Given the description of an element on the screen output the (x, y) to click on. 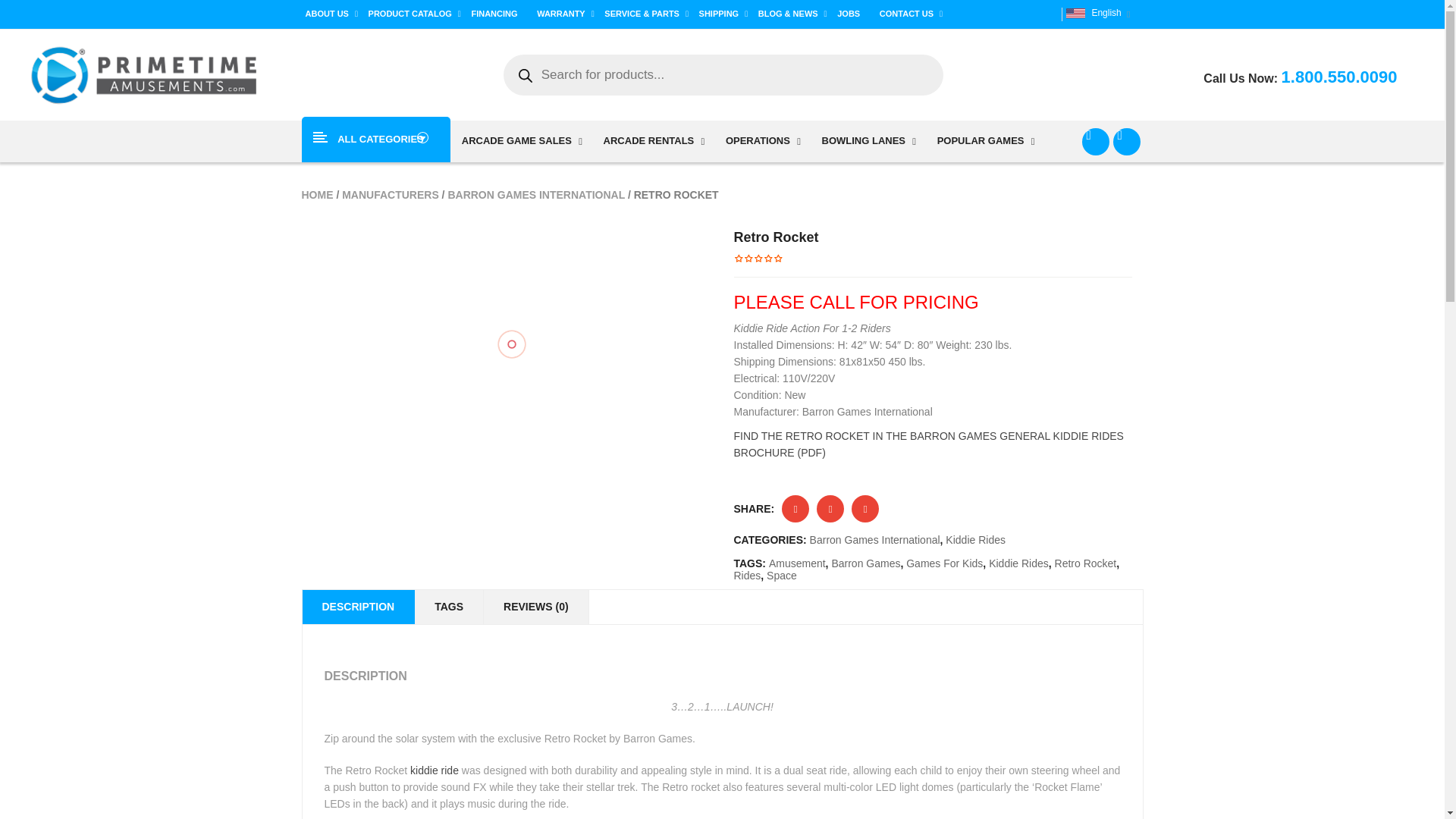
WARRANTY (565, 13)
PRODUCT CATALOG (414, 13)
SHIPPING (723, 13)
CONTACT US (911, 13)
JOBS (852, 13)
FINANCING (498, 13)
English (1074, 13)
ABOUT US (331, 13)
